Given the description of an element on the screen output the (x, y) to click on. 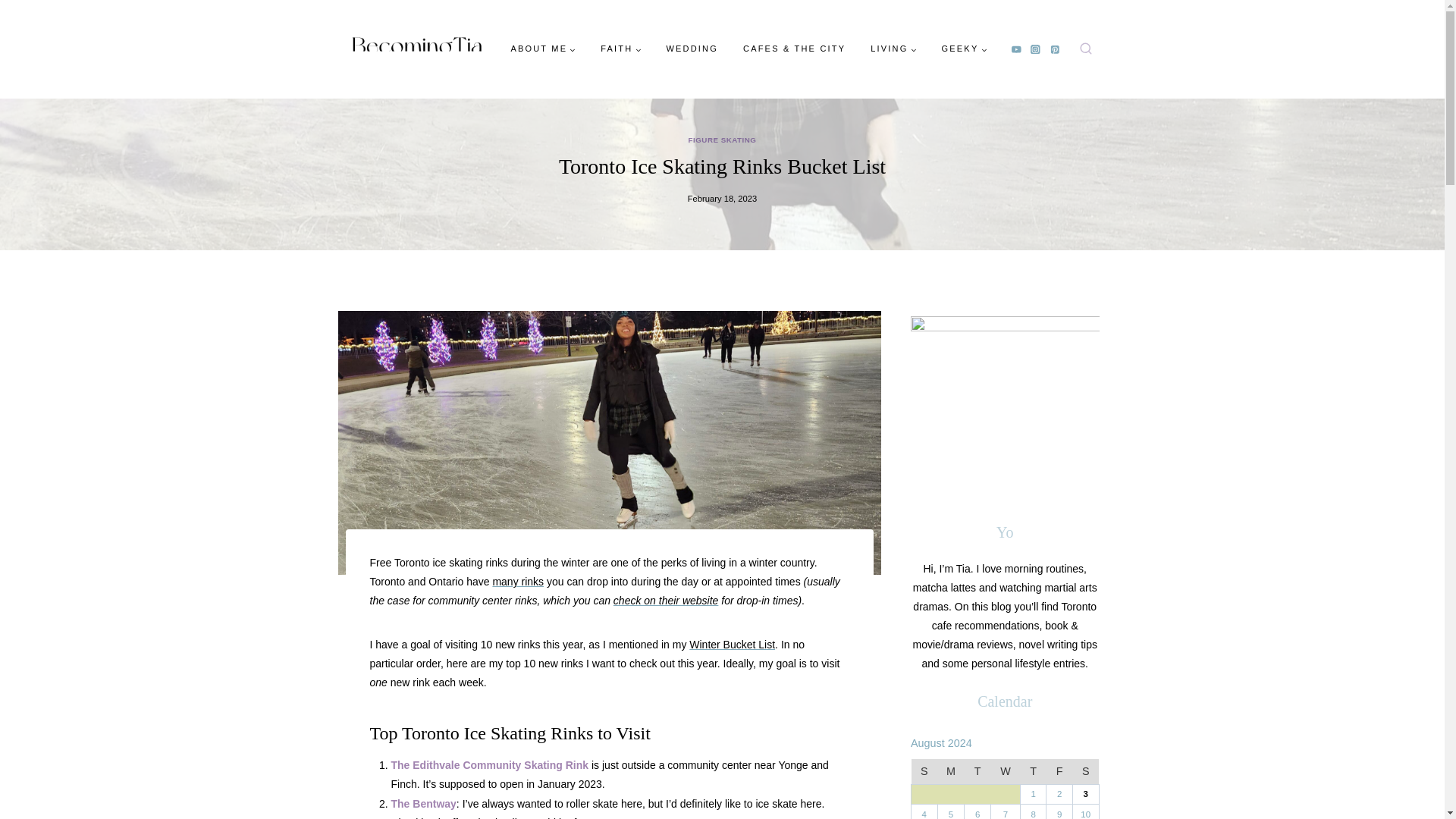
ABOUT ME (542, 48)
FIGURE SKATING (722, 139)
LIVING (893, 48)
many rinks (517, 581)
FAITH (620, 48)
WEDDING (691, 48)
GEEKY (963, 48)
Winter Bucket List (731, 644)
check on their website (665, 600)
